Given the description of an element on the screen output the (x, y) to click on. 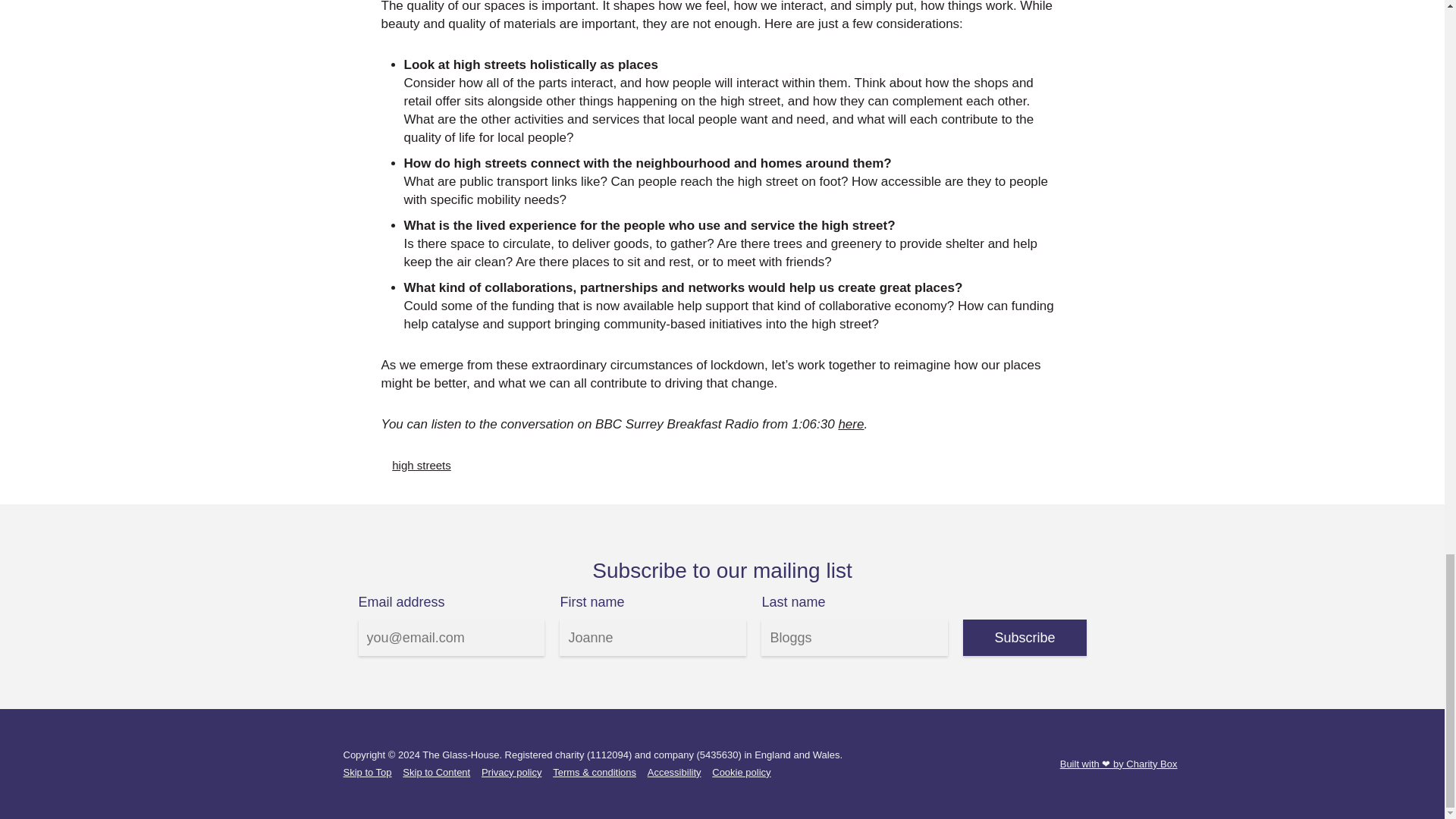
Subscribe (1024, 637)
Web design for charities (1118, 763)
